Given the description of an element on the screen output the (x, y) to click on. 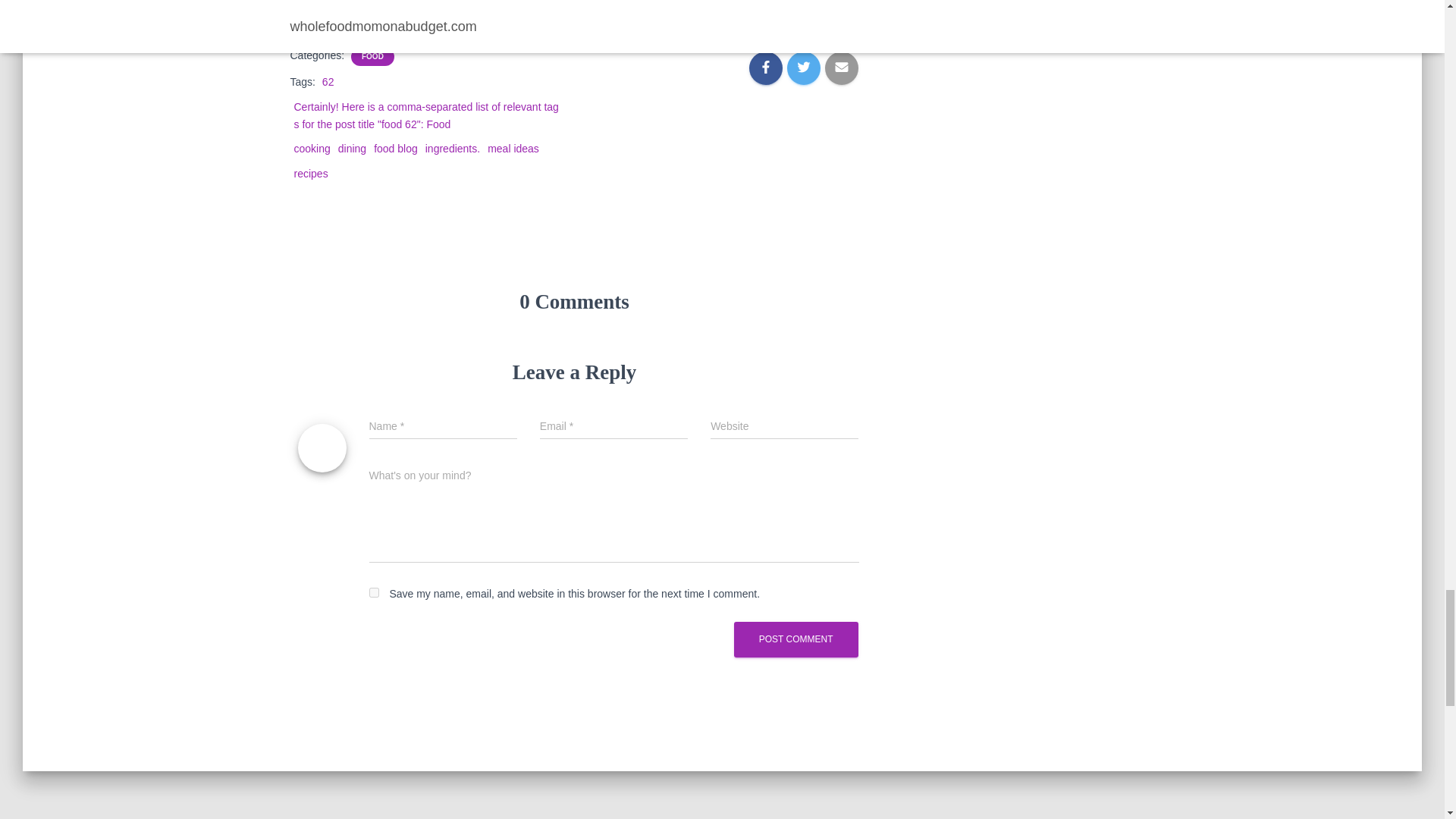
62 (327, 81)
yes (373, 592)
FOOD (372, 56)
dining (351, 148)
food blog (395, 148)
ingredients. (452, 148)
Post Comment (796, 639)
Post Comment (796, 639)
cooking (312, 148)
meal ideas (512, 148)
